Given the description of an element on the screen output the (x, y) to click on. 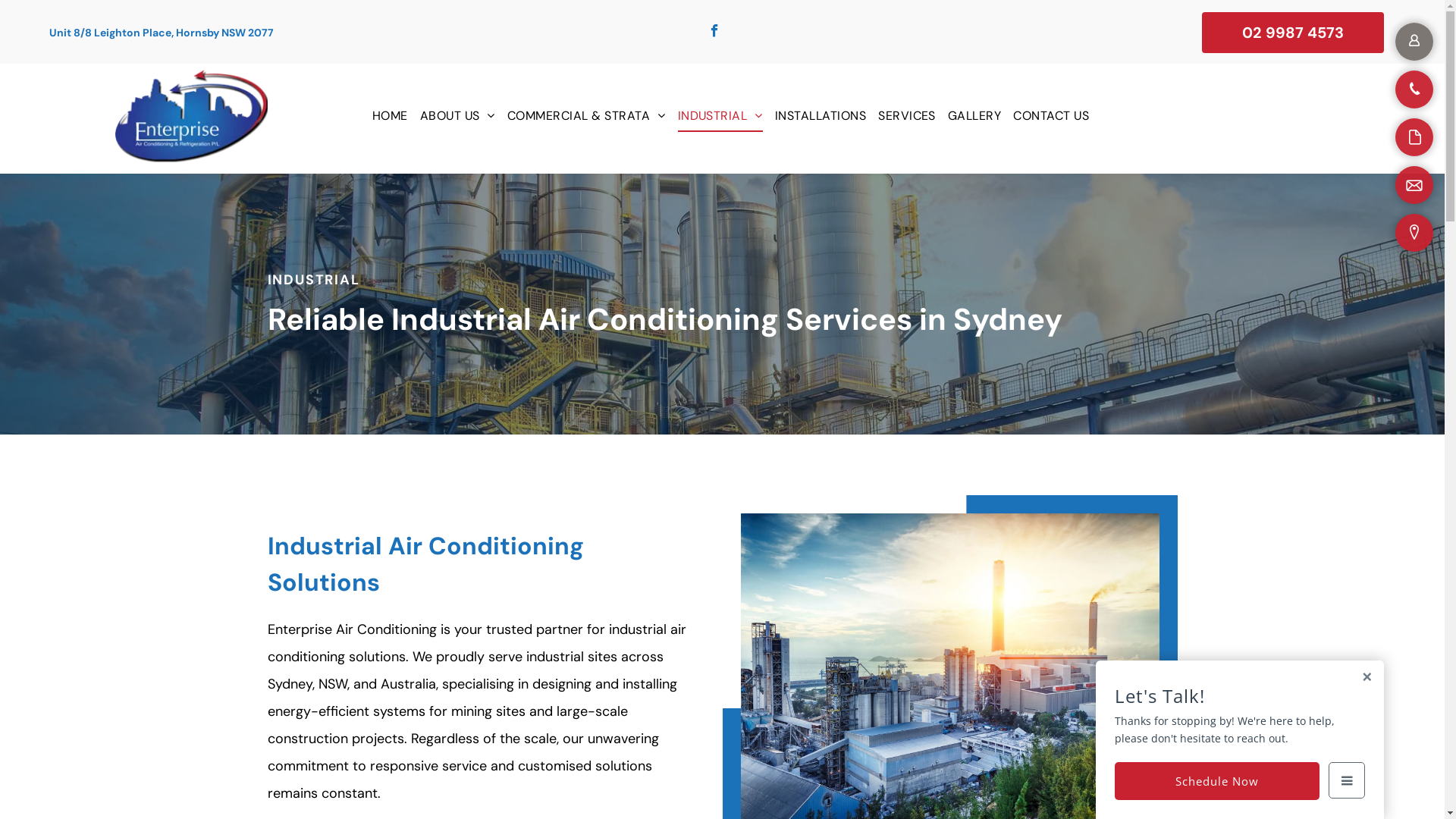
HOME Element type: text (390, 115)
ABOUT US Element type: text (457, 115)
GALLERY Element type: text (974, 115)
INDUSTRIAL Element type: text (719, 115)
02 9987 4573 Element type: text (1292, 32)
SERVICES Element type: text (906, 115)
CONTACT US Element type: text (1051, 115)
COMMERCIAL & STRATA Element type: text (586, 115)
Schedule Now Element type: text (1216, 781)
INSTALLATIONS Element type: text (820, 115)
Enterprise Air Conditioning Element type: hover (191, 115)
Unit 8/8 Leighton Place, Hornsby NSW 2077 Element type: text (161, 32)
